Given the description of an element on the screen output the (x, y) to click on. 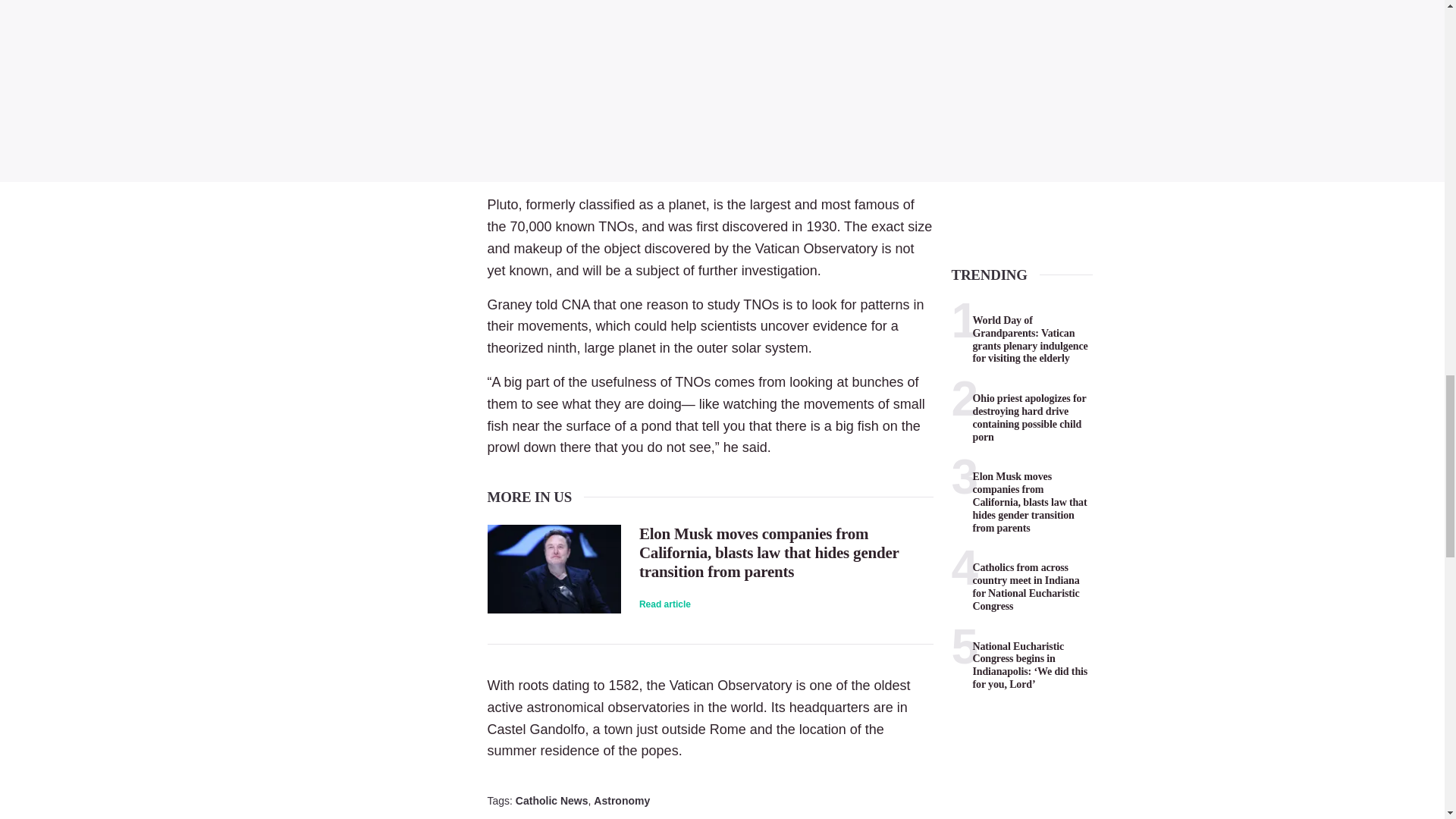
3rd party ad content (721, 86)
